Given the description of an element on the screen output the (x, y) to click on. 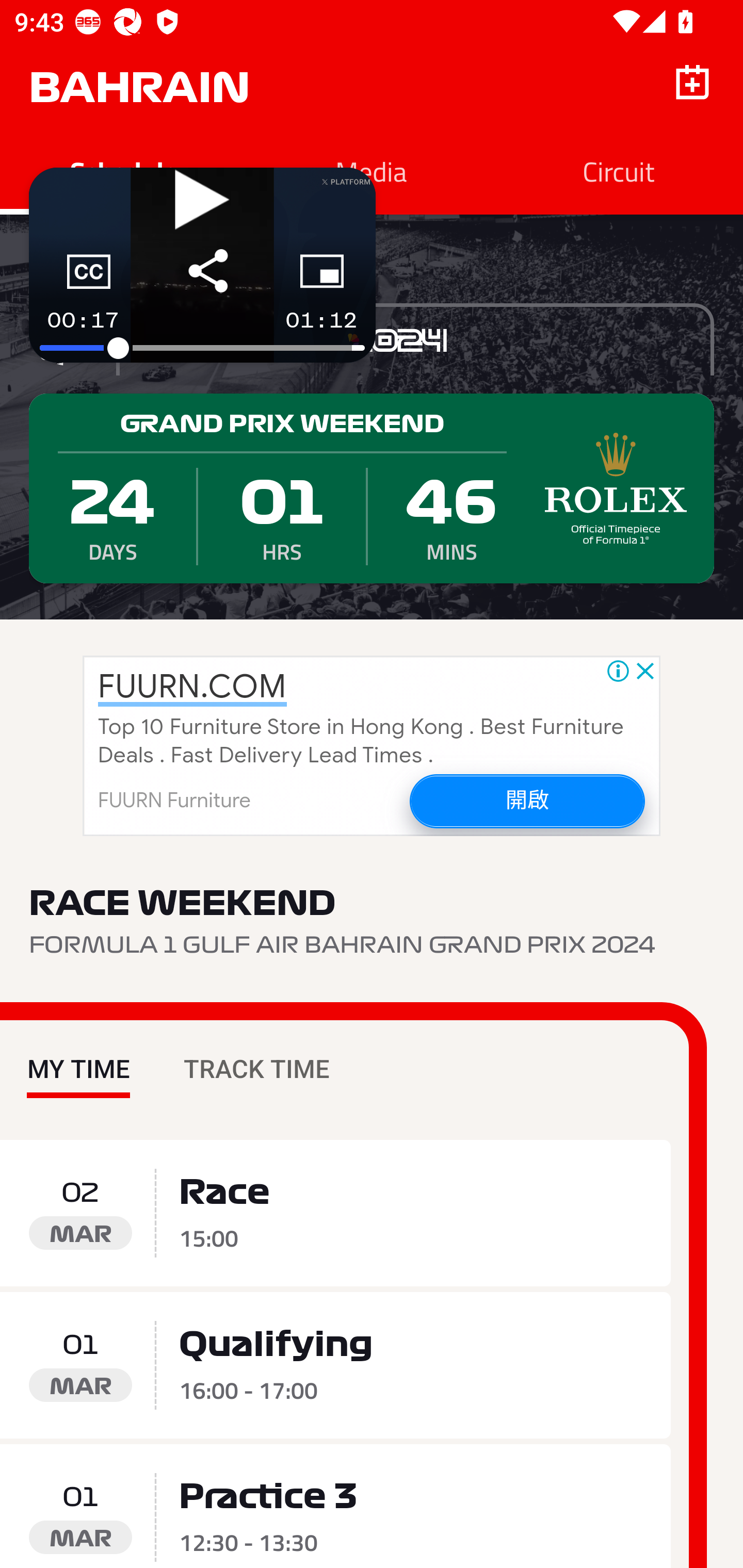
Circuit (619, 171)
FUURN.COM (192, 686)
開啟 (526, 801)
FUURN Furniture (174, 800)
TRACK TIME (256, 1054)
